Given the description of an element on the screen output the (x, y) to click on. 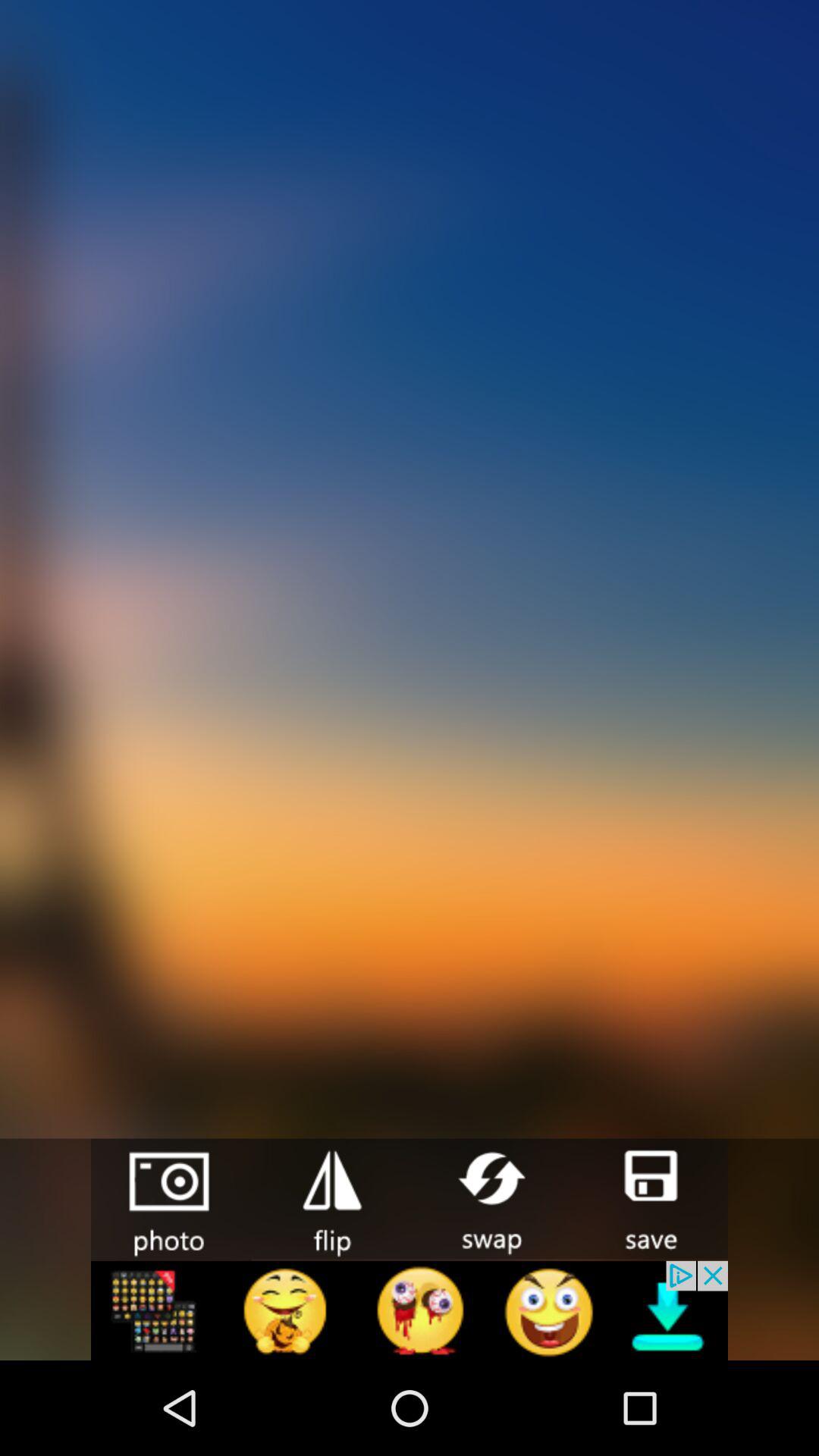
menu page (409, 1310)
